Given the description of an element on the screen output the (x, y) to click on. 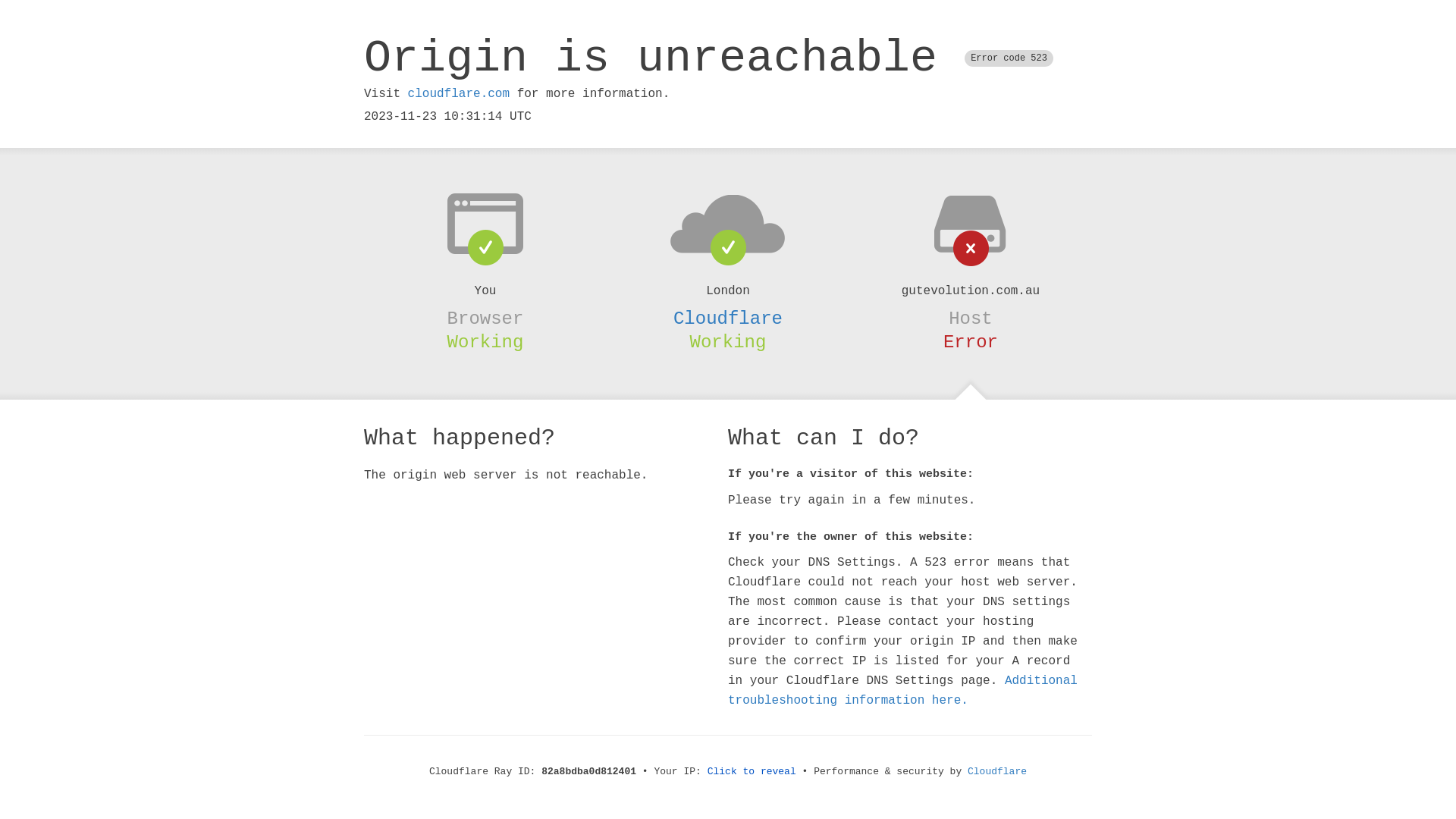
Cloudflare Element type: text (996, 771)
Cloudflare Element type: text (727, 318)
cloudflare.com Element type: text (458, 93)
Click to reveal Element type: text (751, 771)
Additional troubleshooting information here. Element type: text (902, 690)
